Given the description of an element on the screen output the (x, y) to click on. 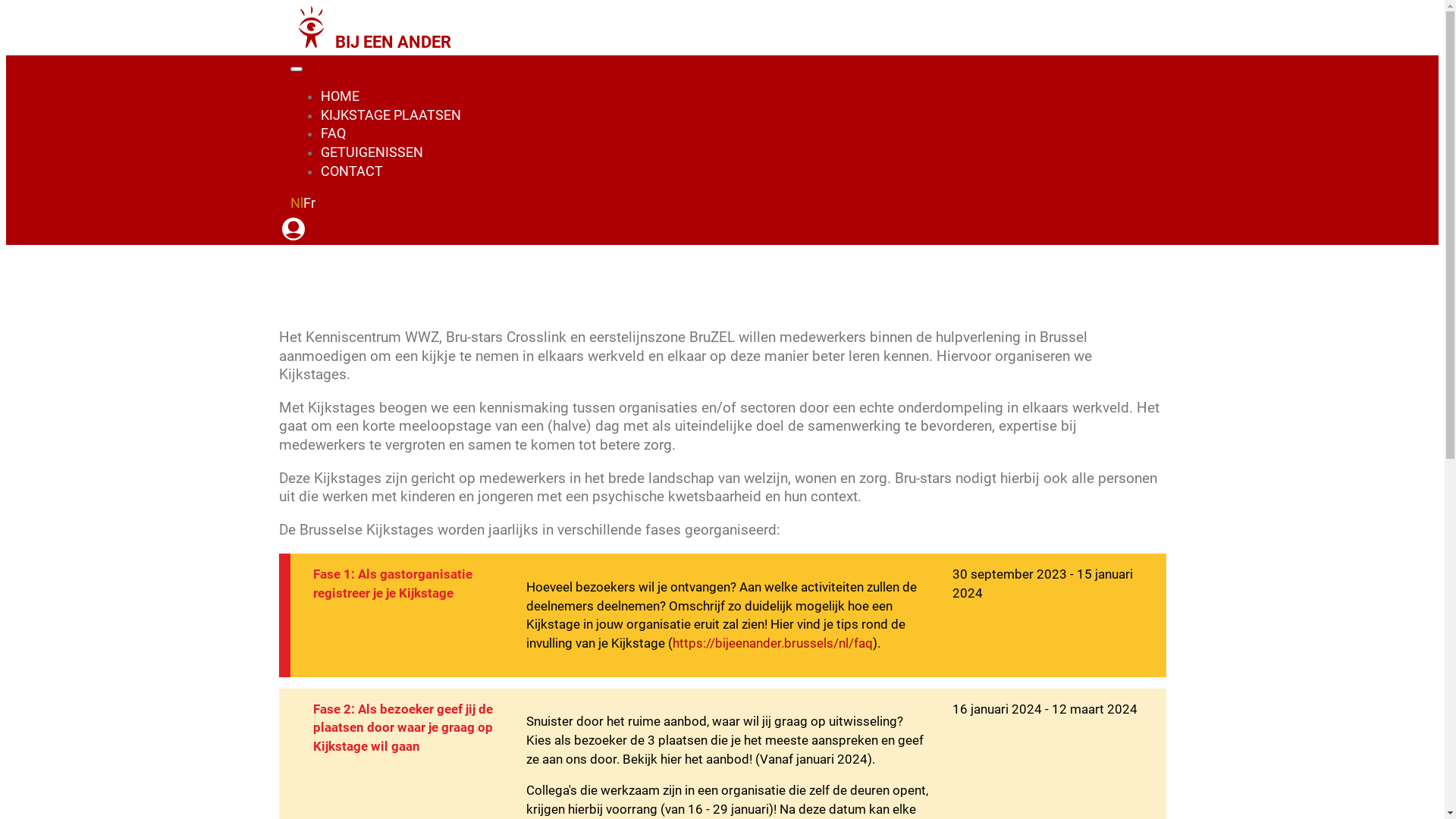
Fr Element type: text (309, 202)
KIJKSTAGE PLAATSEN Element type: text (390, 117)
GETUIGENISSEN Element type: text (371, 154)
FAQ Element type: text (332, 135)
HOME Element type: text (339, 98)
Nl Element type: text (295, 202)
BIJ EEN ANDER Element type: text (369, 42)
https://bijeenander.brussels/nl/faq Element type: text (772, 642)
CONTACT Element type: text (351, 173)
Overslaan en naar de inhoud gaan Element type: text (6, 6)
